Given the description of an element on the screen output the (x, y) to click on. 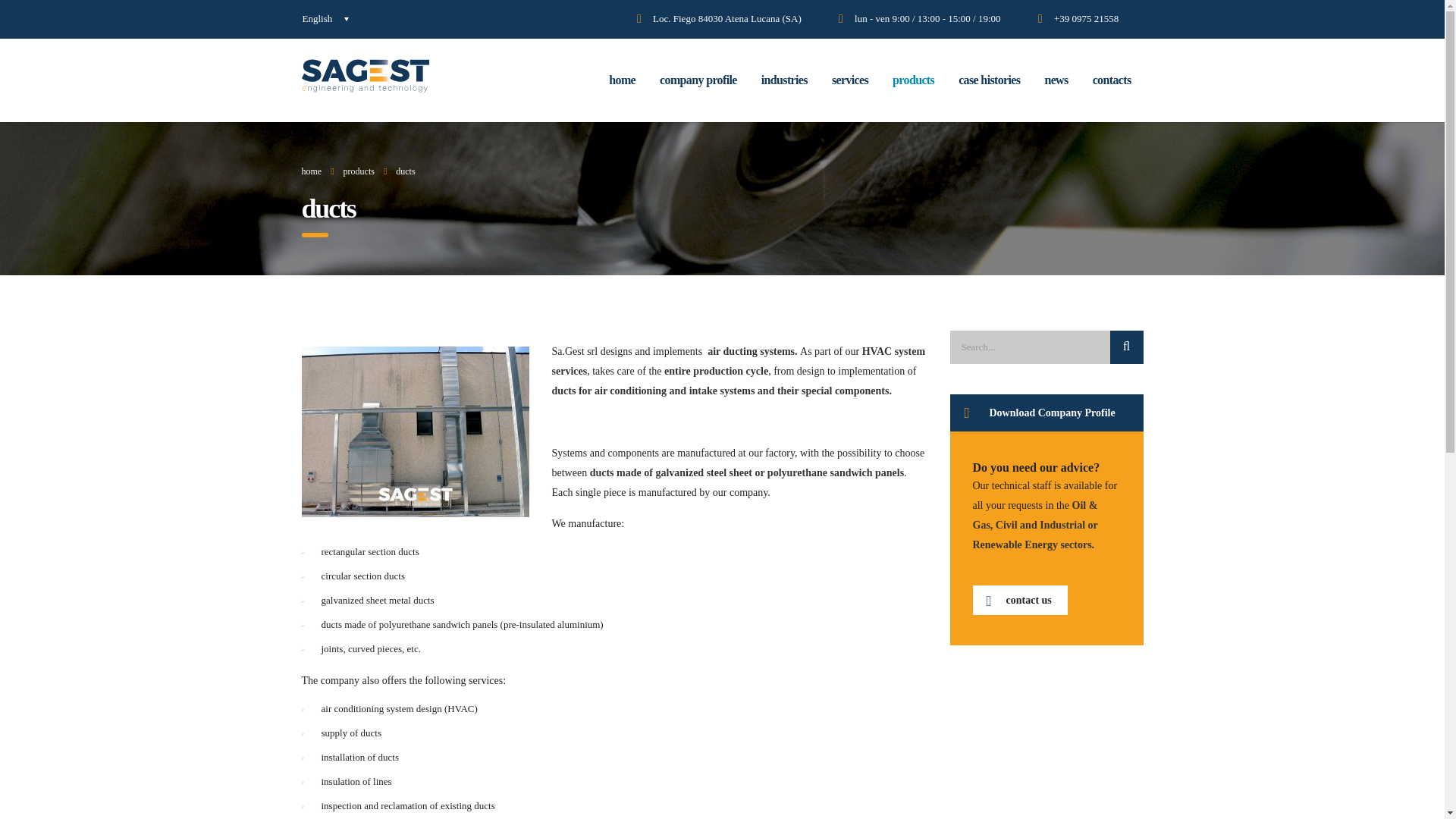
company profile (698, 80)
news (1056, 80)
products (913, 80)
services (849, 80)
Go to products. (358, 171)
Go to Sagest. (311, 171)
industries (784, 80)
English (325, 19)
case histories (989, 80)
home (621, 80)
contacts (1111, 80)
